Given the description of an element on the screen output the (x, y) to click on. 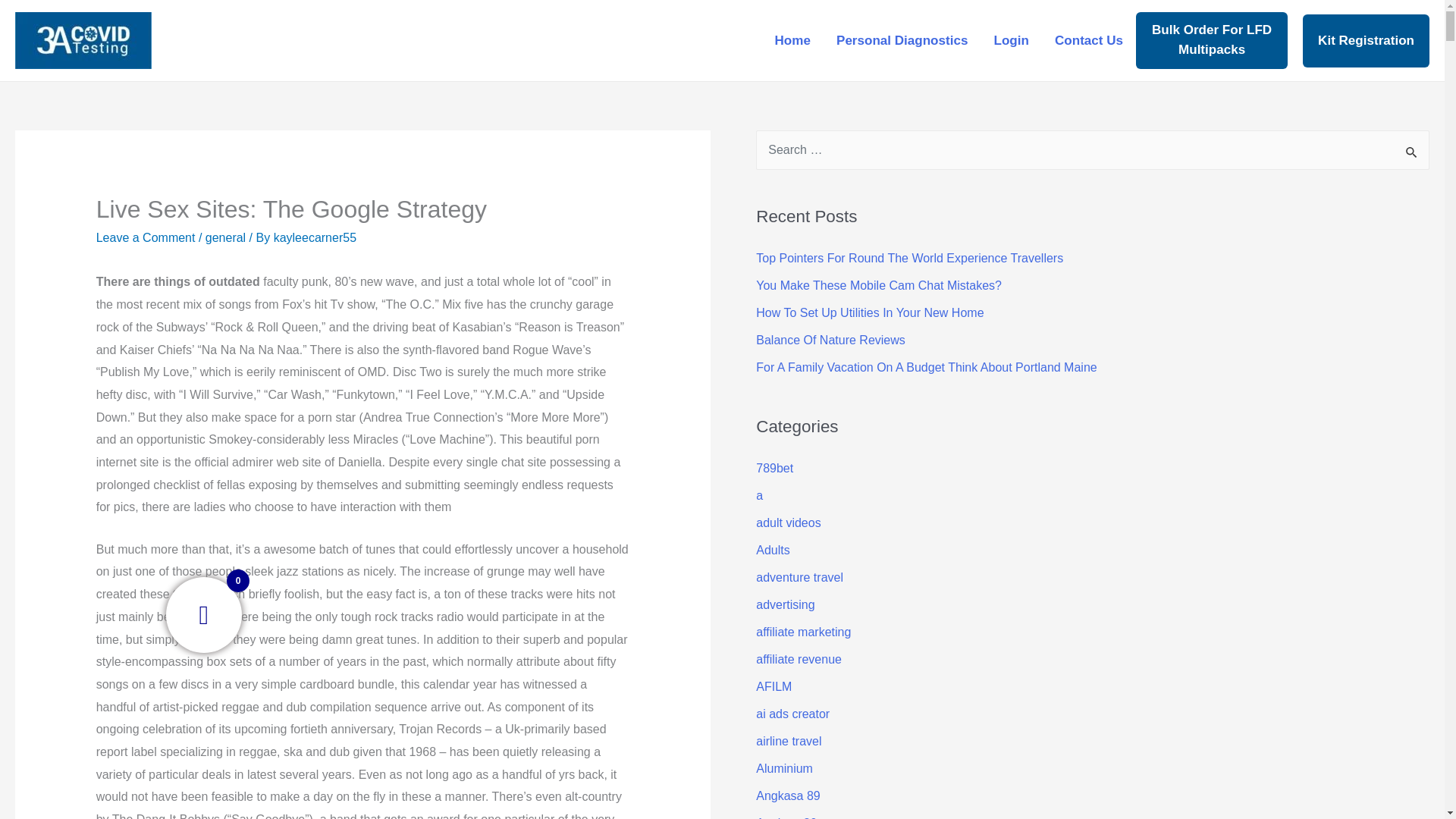
View all posts by kayleecarner55 (314, 237)
Balance Of Nature Reviews (830, 339)
Contact Us (1088, 39)
advertising (784, 604)
Home (792, 39)
Kit Registration (1366, 39)
How To Set Up Utilities In Your New Home (869, 312)
adventure travel (799, 576)
You Make These Mobile Cam Chat Mistakes? (878, 285)
Leave a Comment (145, 237)
adult videos (788, 522)
Bulk Order For LFD Multipacks (1211, 39)
affiliate revenue (798, 658)
For A Family Vacation On A Budget Think About Portland Maine (925, 367)
Personal Diagnostics (902, 39)
